Given the description of an element on the screen output the (x, y) to click on. 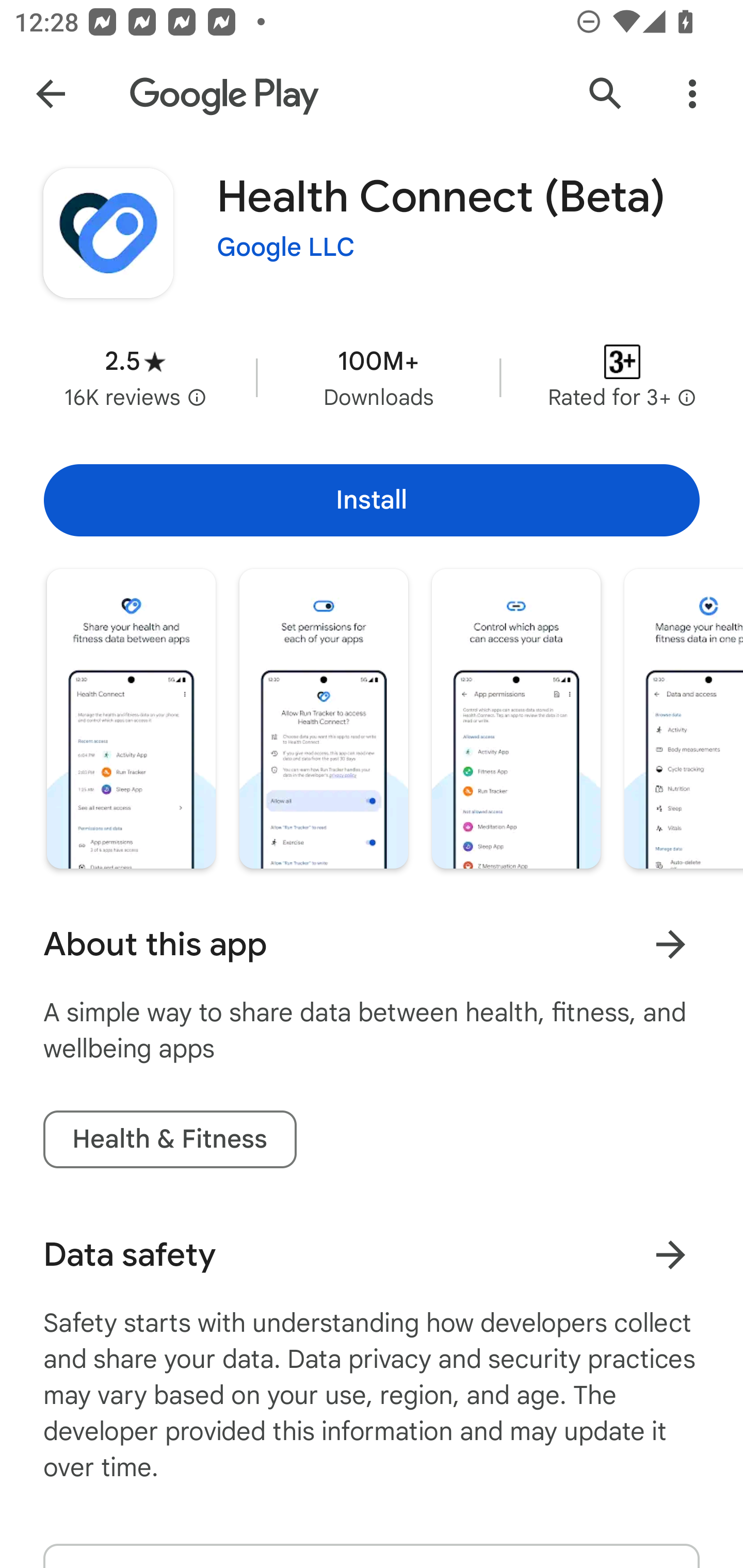
Navigate up (50, 93)
Search Google Play (605, 93)
More Options (692, 93)
Google LLC (285, 247)
Average rating 2.5 stars in 16 thousand reviews (135, 377)
Content rating Rated for 3+ (622, 377)
Install (371, 500)
Screenshot "1" of "4" (130, 718)
Screenshot "2" of "4" (323, 718)
Screenshot "3" of "4" (515, 718)
Screenshot "4" of "4" (683, 718)
About this app Learn more About this app (371, 944)
Learn more About this app (670, 944)
Health & Fitness tag (169, 1139)
Data safety Learn more about data safety (371, 1255)
Learn more about data safety (670, 1255)
